Given the description of an element on the screen output the (x, y) to click on. 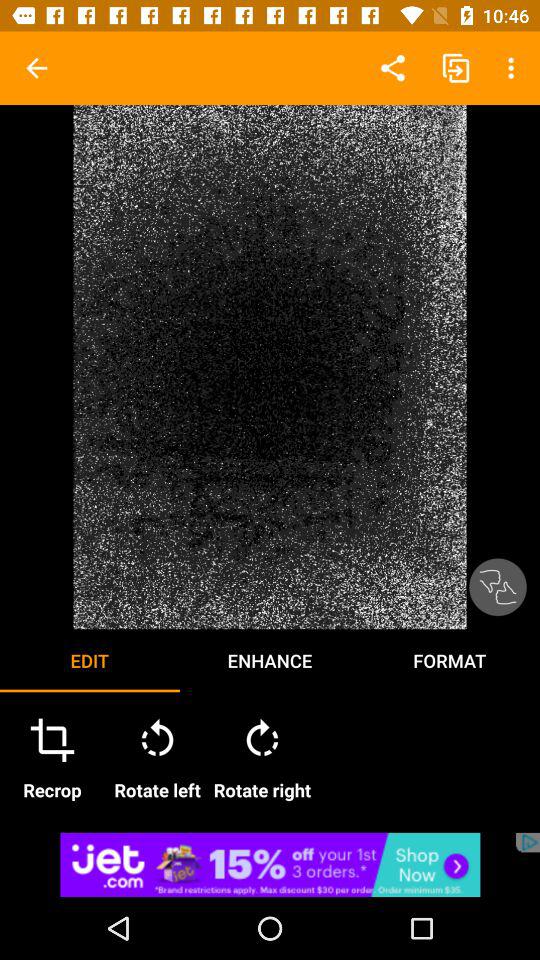
click the link (270, 864)
